Given the description of an element on the screen output the (x, y) to click on. 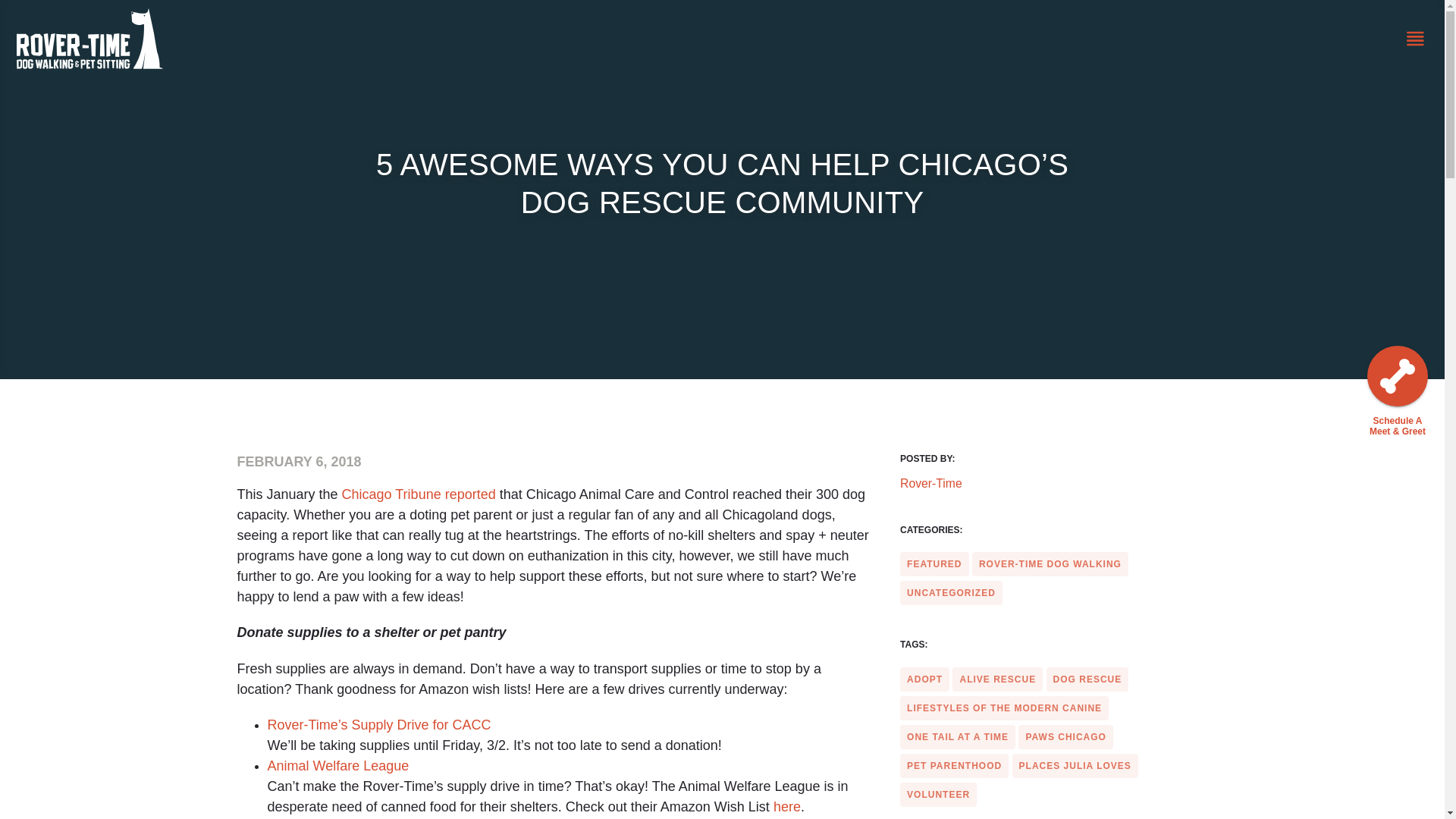
Animal Welfare League (337, 765)
Chicago Tribune reported (420, 494)
here (786, 806)
